Given the description of an element on the screen output the (x, y) to click on. 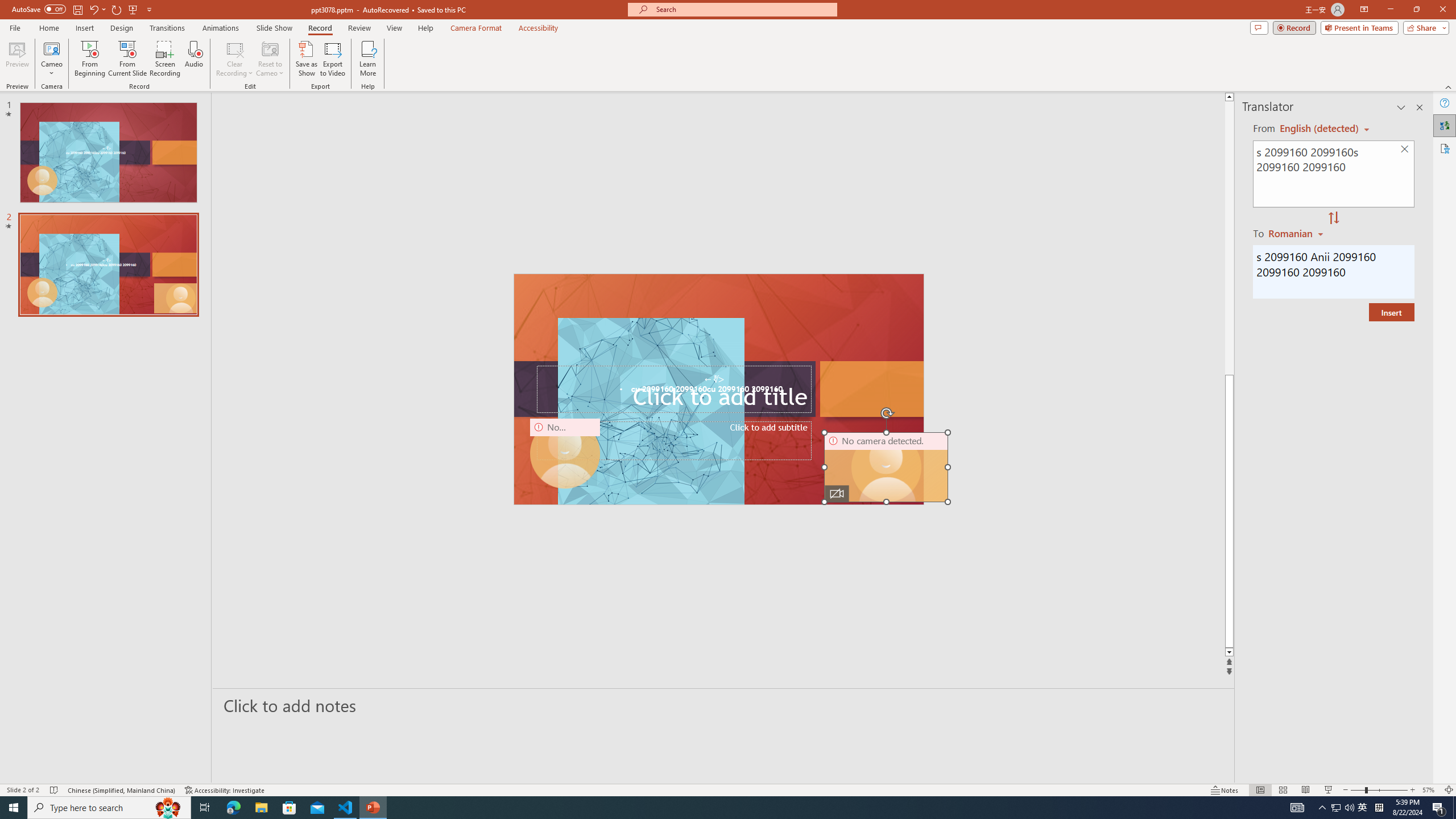
Zoom Out (1358, 790)
Collapse the Ribbon (1448, 86)
Page up (1427, 238)
Help (1444, 102)
Czech (detected) (1319, 128)
Present in Teams (1359, 27)
Line down (1427, 652)
TextBox 7 (713, 379)
Normal (1260, 790)
View (395, 28)
Notes  (1225, 790)
Insert (1390, 312)
Subtitle TextBox (673, 440)
Screen Recording (165, 58)
Save (77, 9)
